Given the description of an element on the screen output the (x, y) to click on. 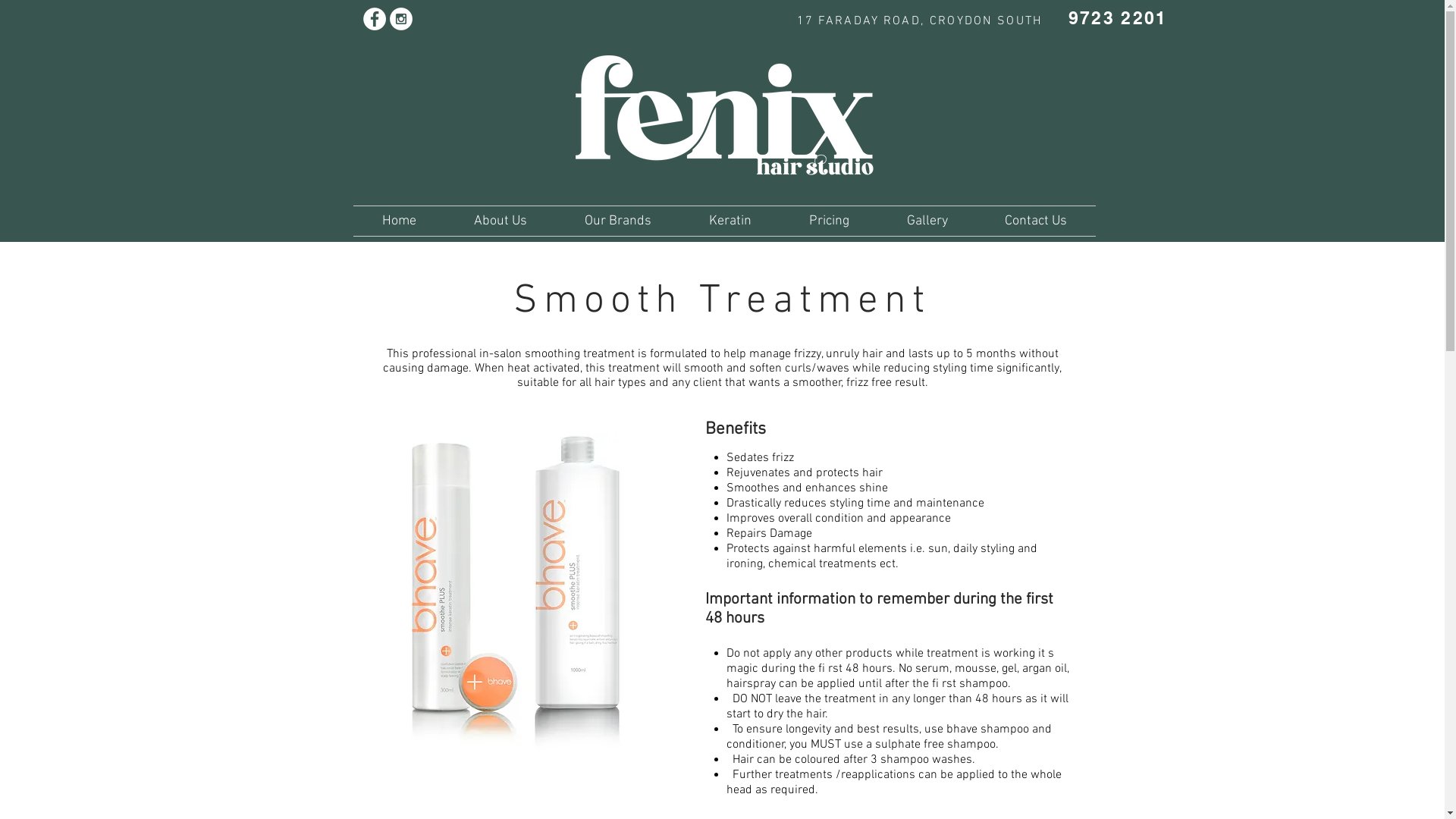
Pricing Element type: text (828, 220)
About Us Element type: text (499, 220)
Contact Us Element type: text (1035, 220)
Gallery Element type: text (927, 220)
Home Element type: text (399, 220)
Our Brands Element type: text (617, 220)
Keratin Element type: text (729, 220)
Smooth PLUS.jpg Element type: hover (512, 594)
